Given the description of an element on the screen output the (x, y) to click on. 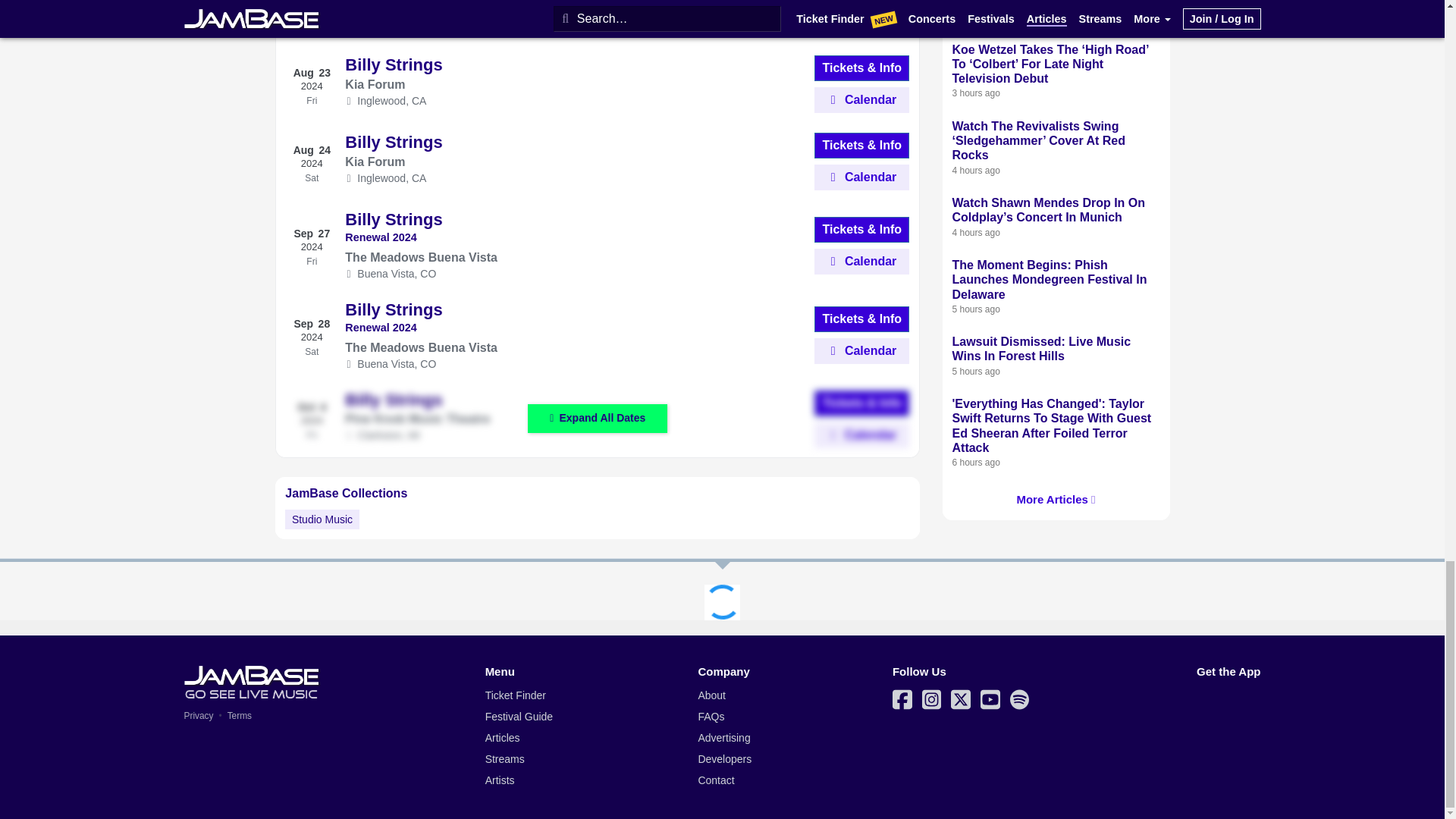
Click to register or log in. (860, 350)
Click to register or log in. (860, 99)
Click to register or log in. (860, 177)
Click to register or log in. (860, 261)
Click to register or log in. (860, 22)
Click to register or log in. (860, 434)
